Given the description of an element on the screen output the (x, y) to click on. 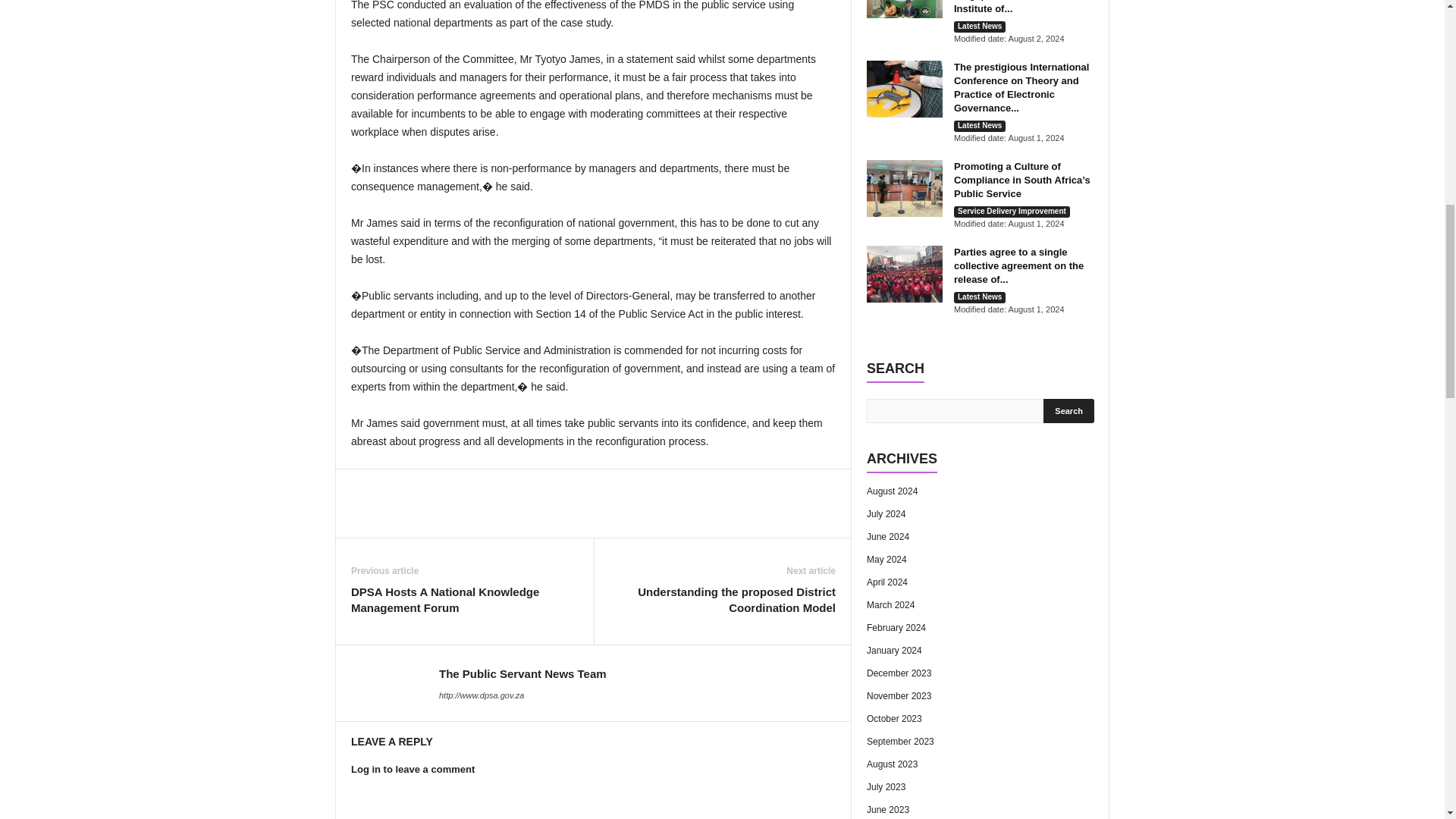
Understanding the proposed District Coordination Model (721, 599)
The Public Servant News Team (523, 673)
Log in to leave a comment (412, 768)
Search (1068, 410)
DPSA Hosts A National Knowledge Management Forum (464, 599)
